Given the description of an element on the screen output the (x, y) to click on. 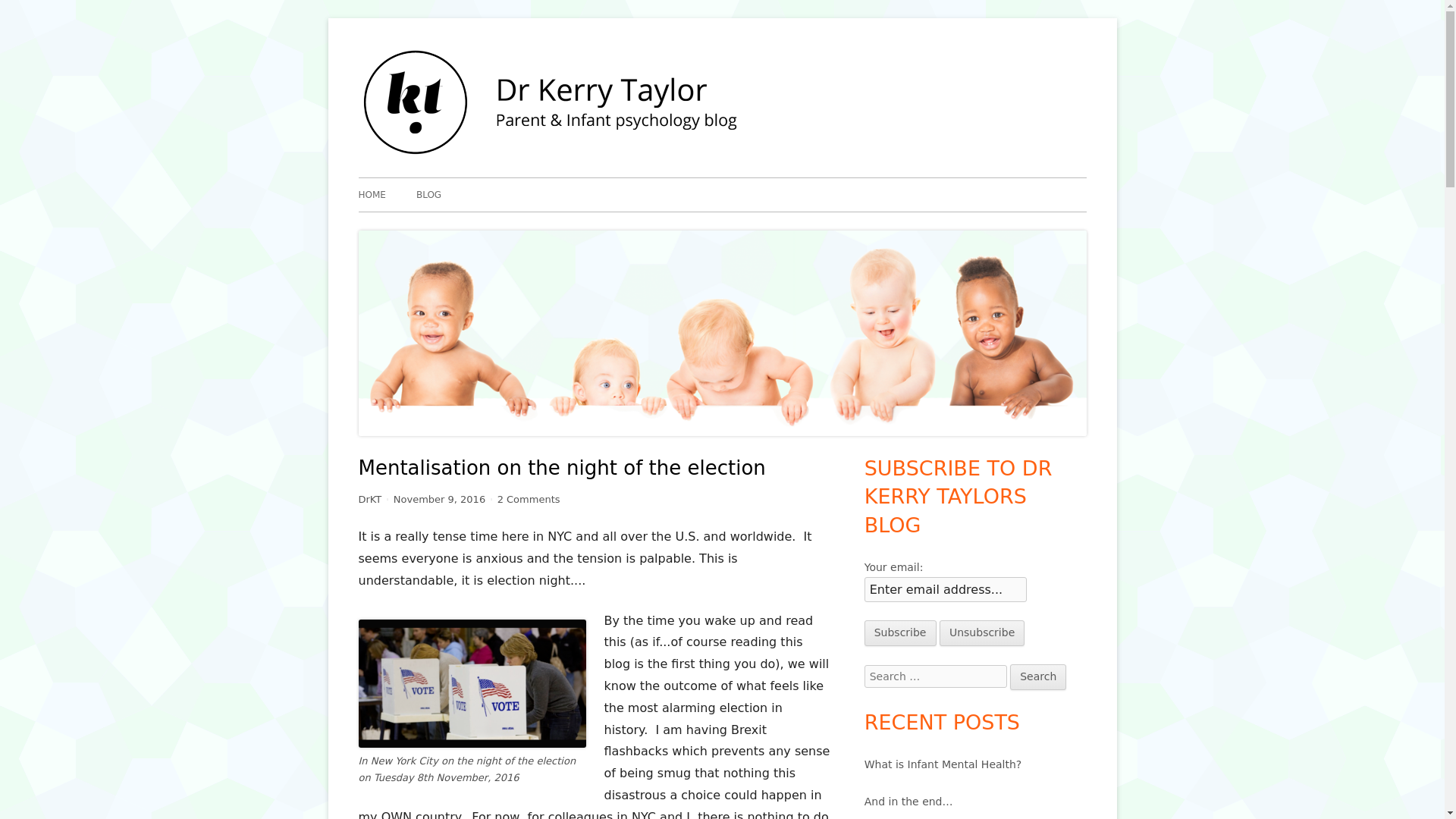
Search (1037, 677)
BLOG (428, 194)
Subscribe (900, 632)
Search (1037, 677)
What is Infant Mental Health? (943, 764)
Subscribe (900, 632)
DrKT (369, 499)
November 9, 2016 (438, 499)
Search (1037, 677)
Enter email address... (945, 589)
Unsubscribe (528, 499)
Dr Kerry Taylor (982, 632)
HOME (834, 63)
